Given the description of an element on the screen output the (x, y) to click on. 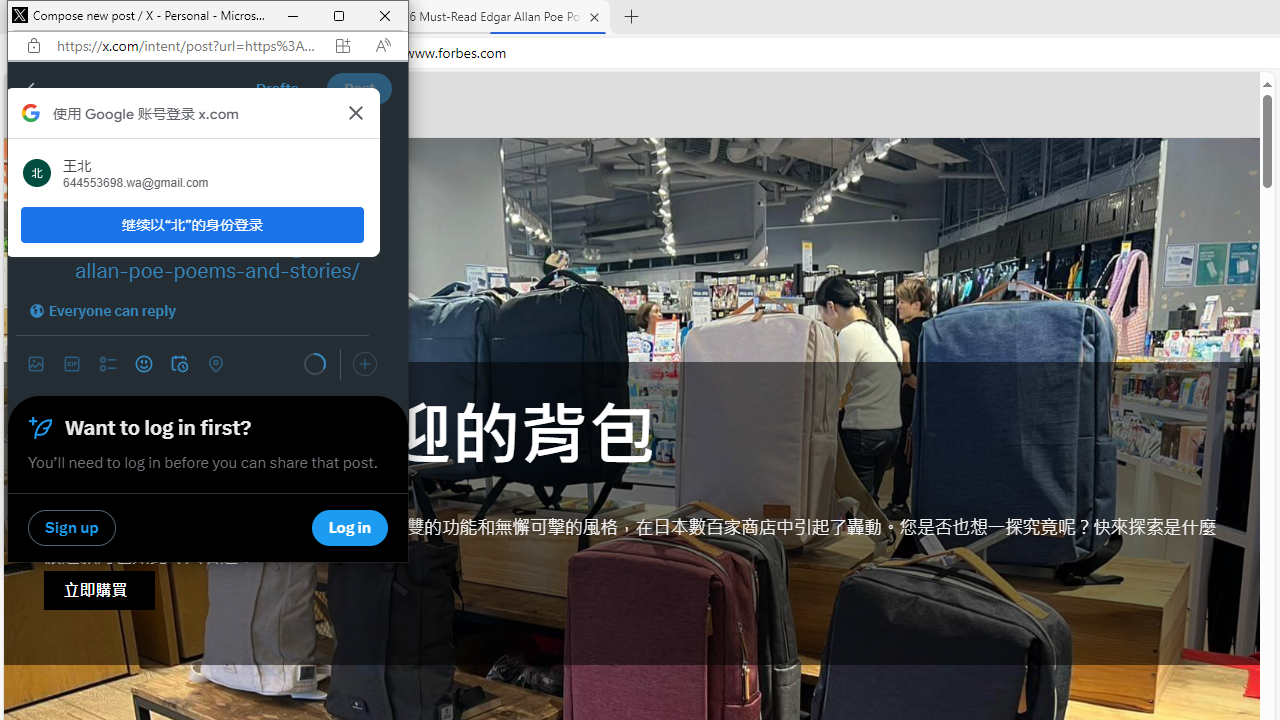
Maximize (339, 15)
Class: Bz112c Bz112c-r9oPif (356, 112)
App available. Install X (342, 46)
